Given the description of an element on the screen output the (x, y) to click on. 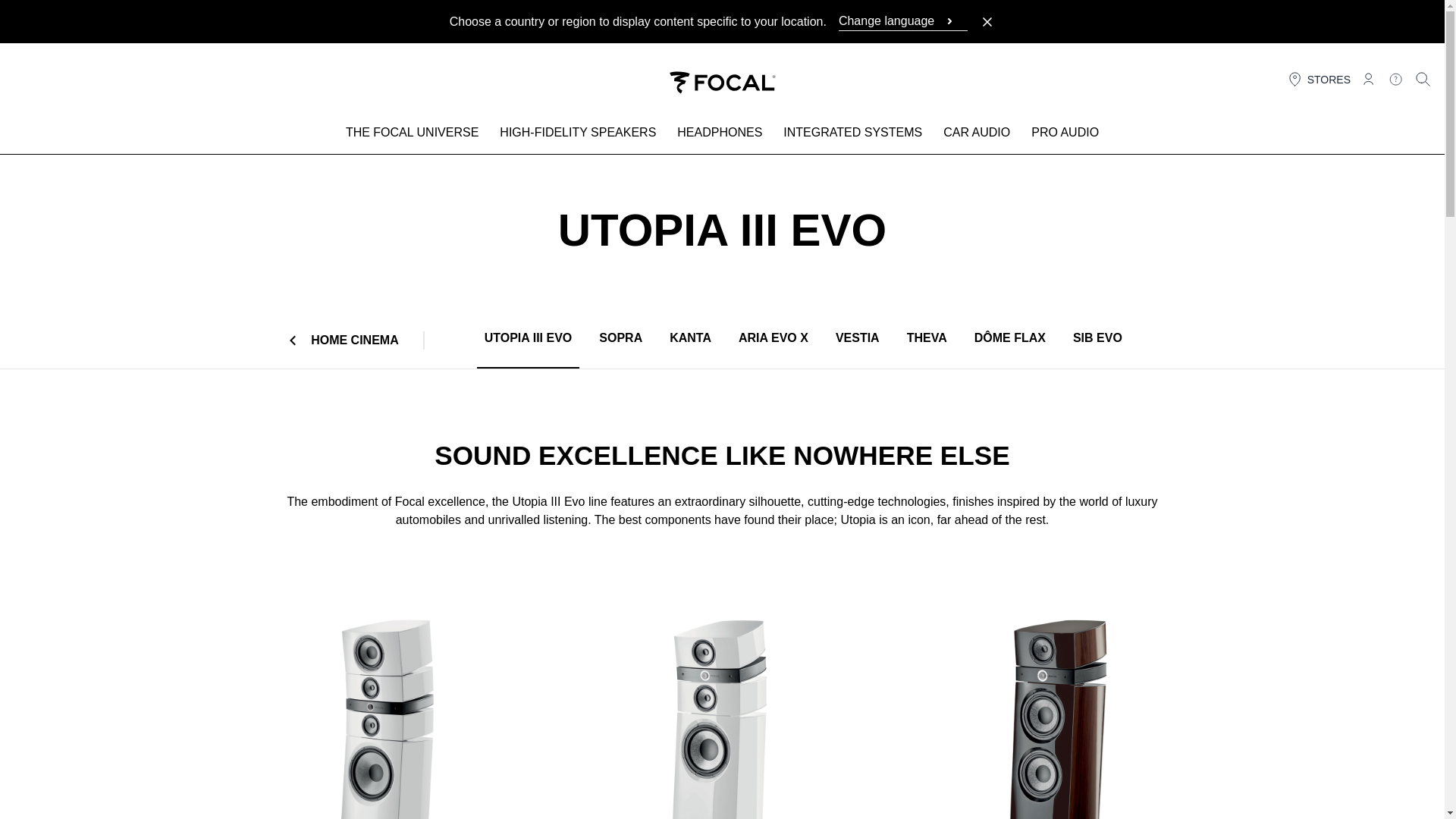
SEARCH (1422, 79)
INTEGRATED SYSTEMS (853, 134)
HEADPHONES (719, 134)
HELP (1396, 79)
HIGH-FIDELITY SPEAKERS (577, 134)
THE FOCAL UNIVERSE (411, 134)
Change language (903, 21)
LOG IN (1368, 79)
STORES (1318, 79)
